Given the description of an element on the screen output the (x, y) to click on. 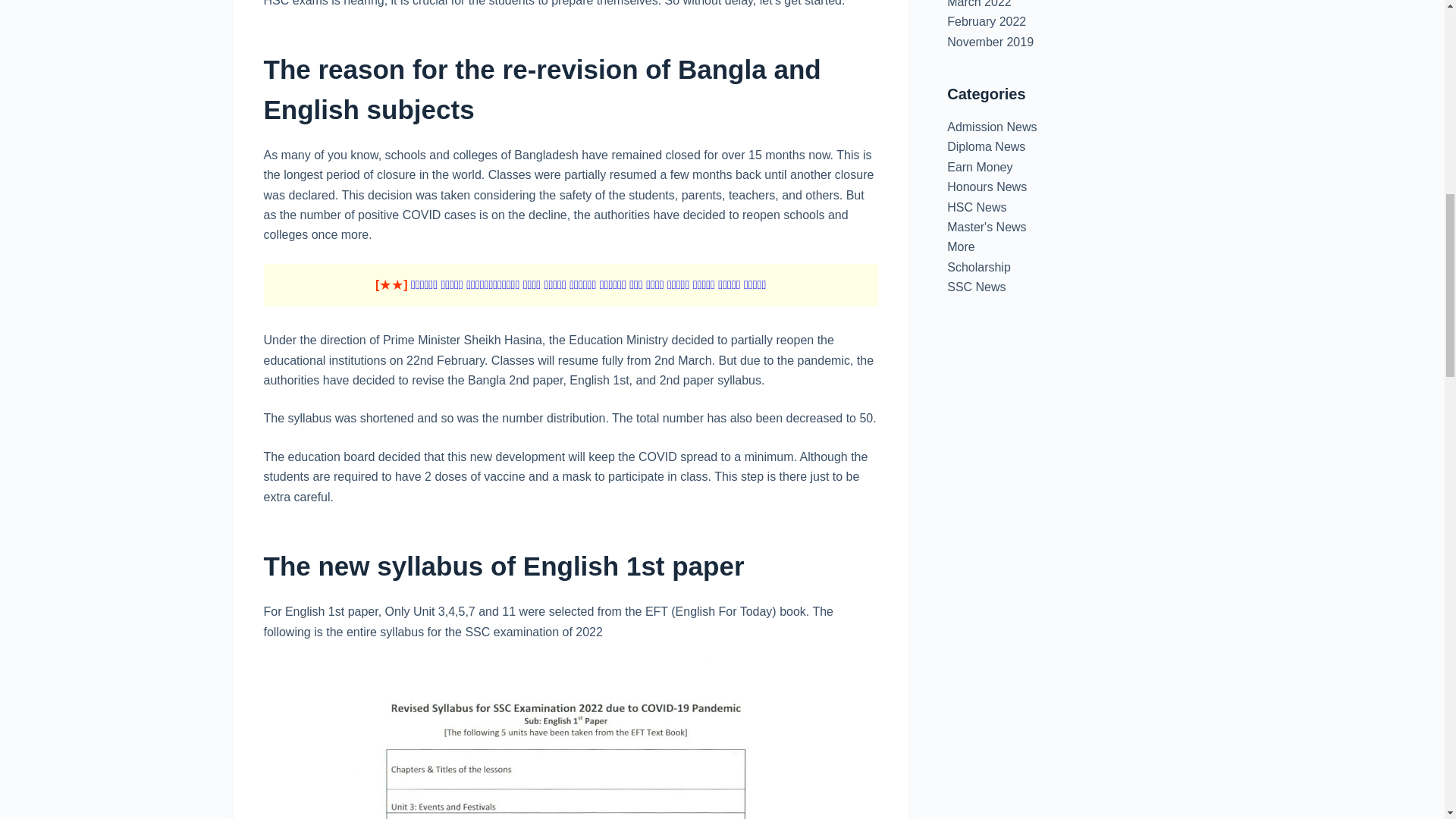
March 2022 (979, 4)
